Given the description of an element on the screen output the (x, y) to click on. 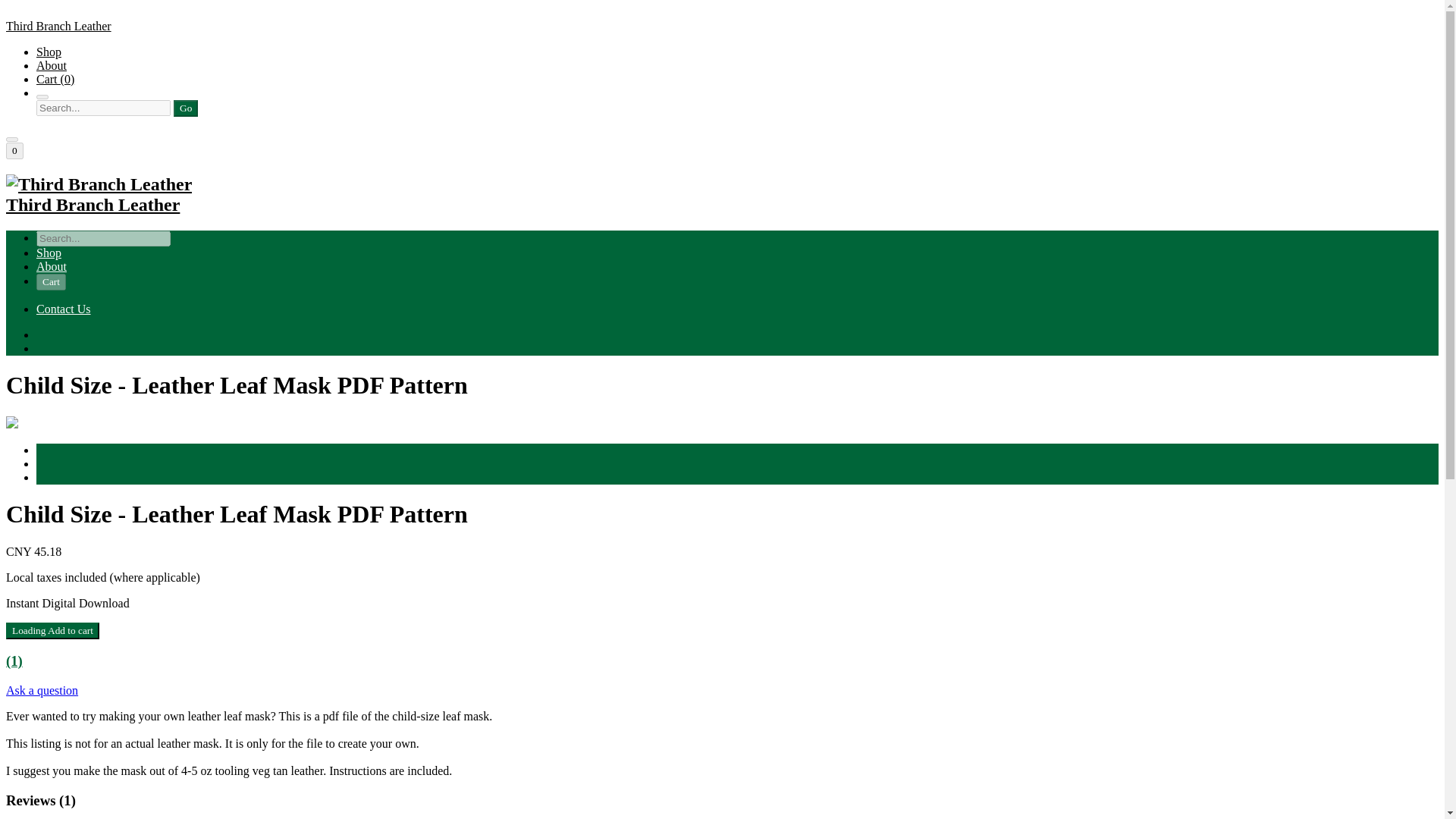
Contact Us (63, 308)
About (51, 266)
Ask a question (41, 689)
About (51, 65)
Go (185, 108)
Cart (50, 281)
Shop (48, 252)
Shop (48, 51)
Loading Add to cart (52, 630)
0 (14, 150)
Go (185, 108)
